Given the description of an element on the screen output the (x, y) to click on. 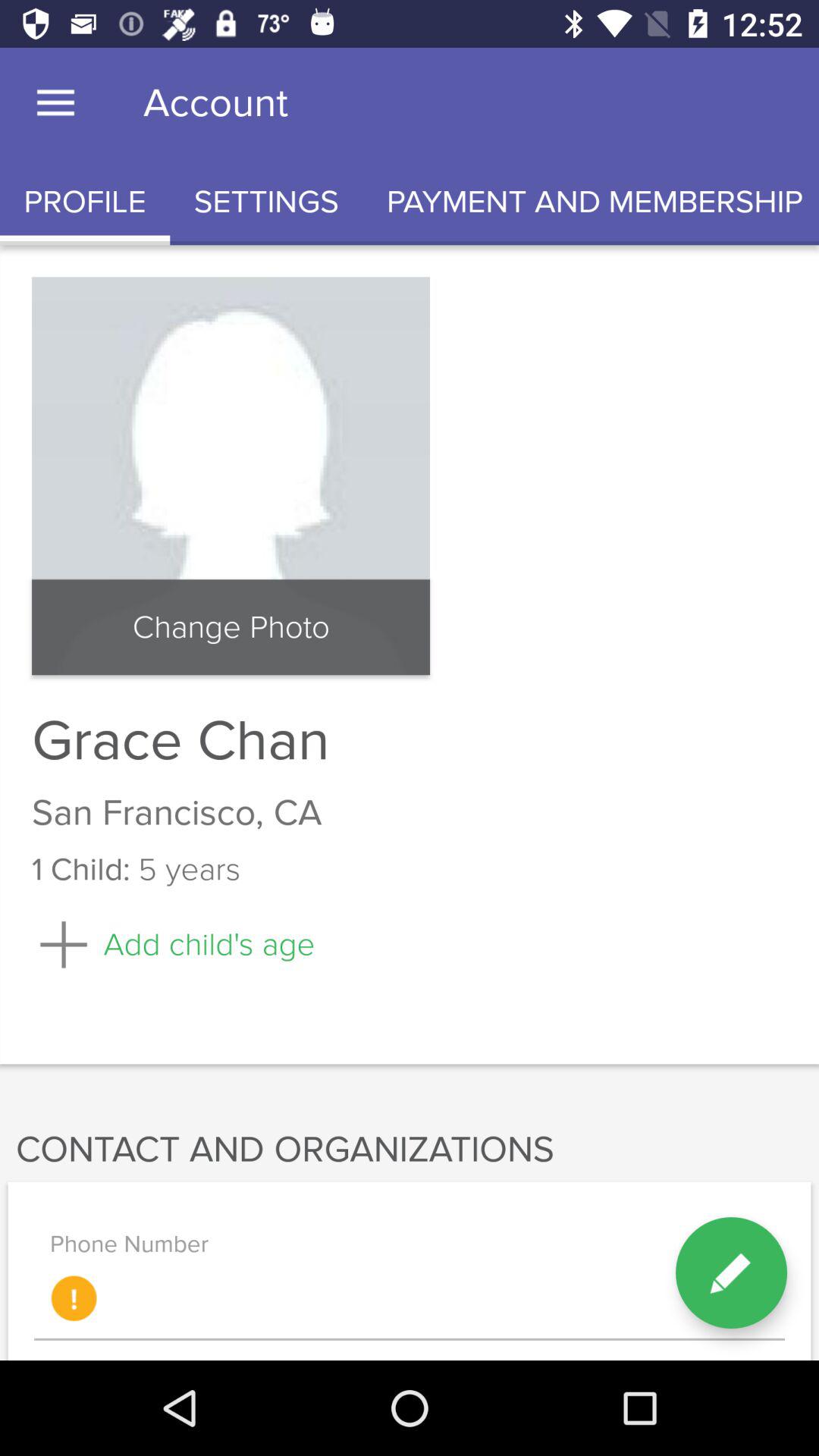
turn off item above grace chan (230, 627)
